Given the description of an element on the screen output the (x, y) to click on. 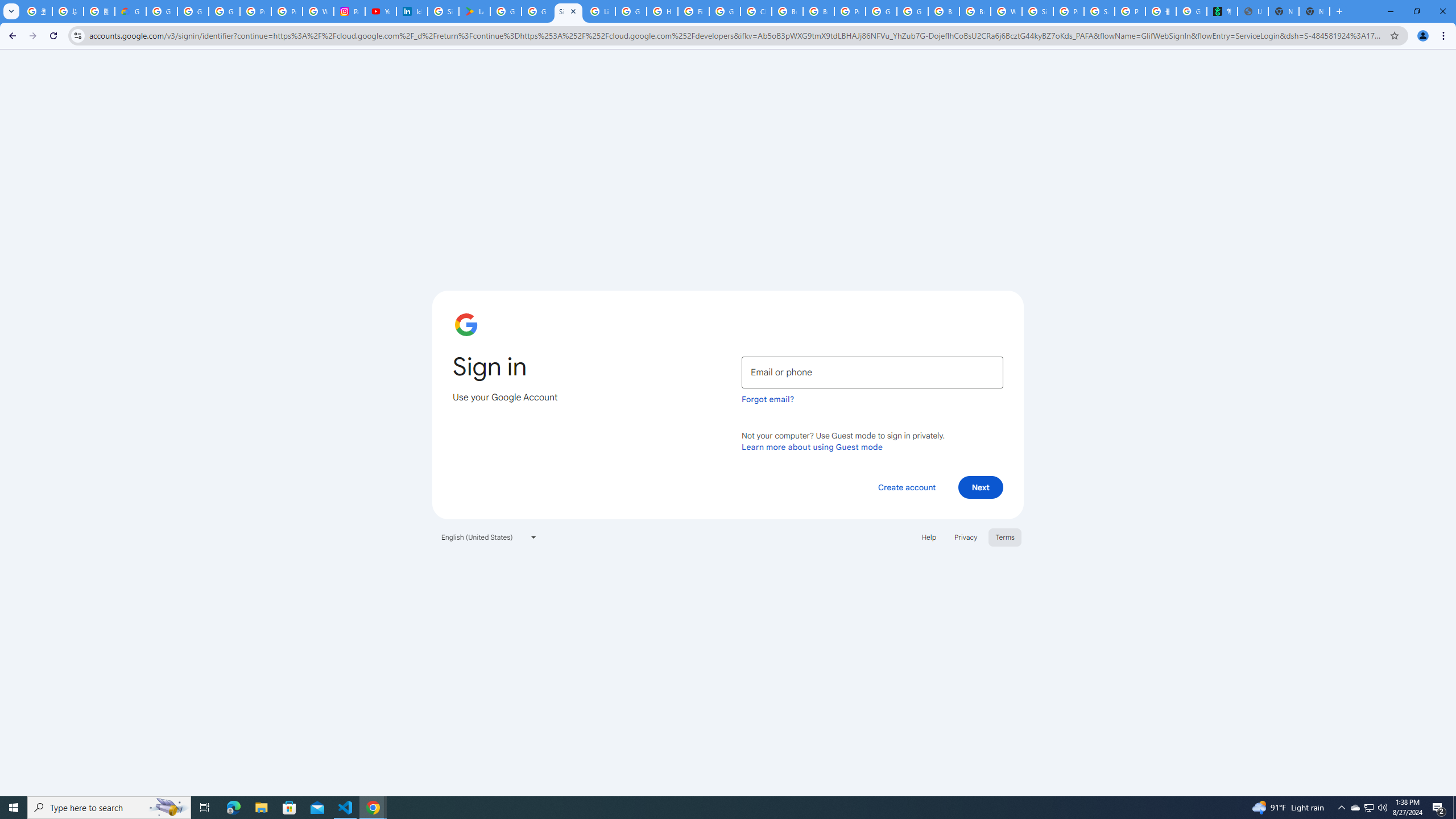
Privacy Help Center - Policies Help (286, 11)
